Given the description of an element on the screen output the (x, y) to click on. 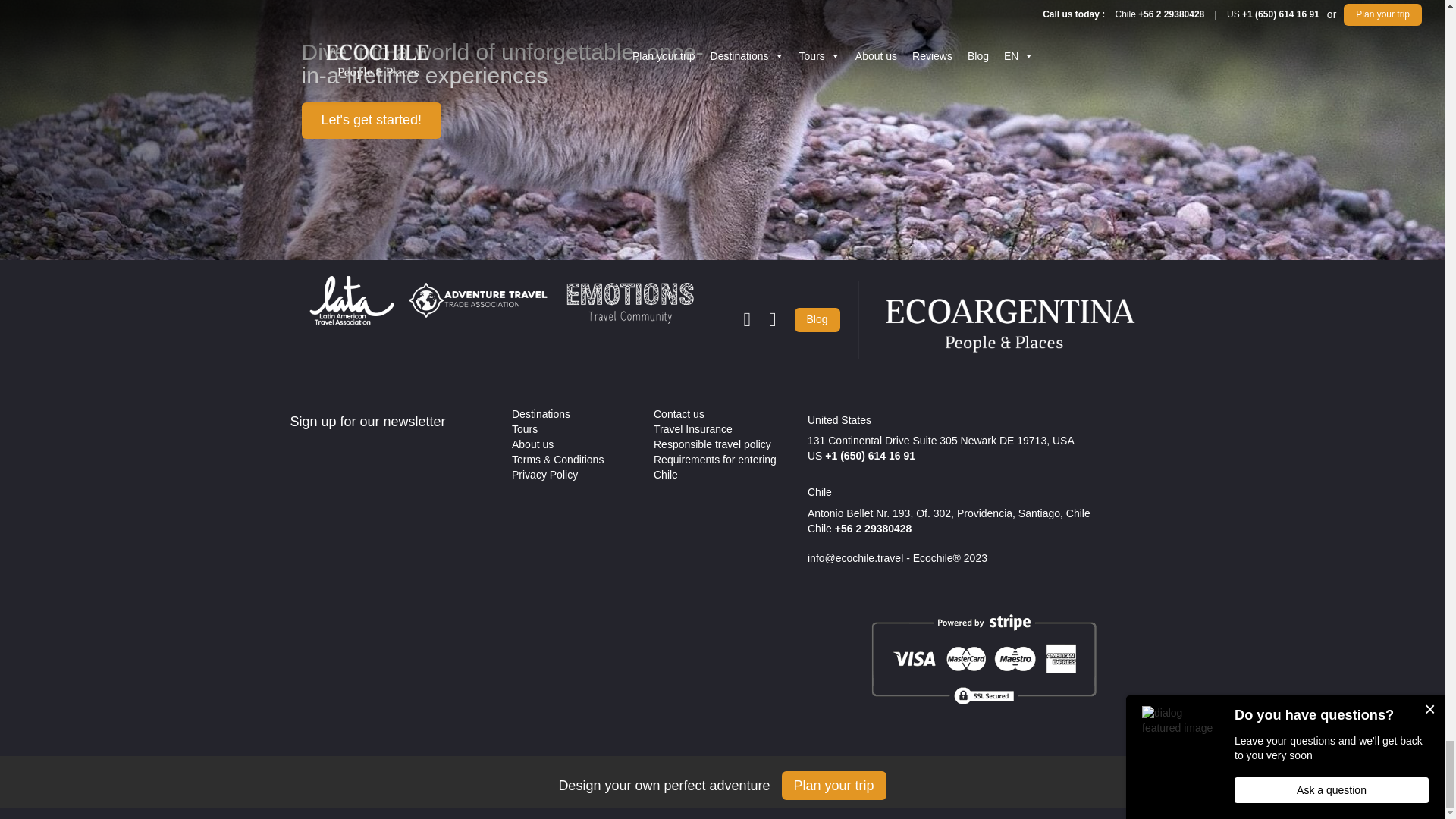
Blog (817, 319)
Destinations (541, 413)
Tours (524, 428)
Form 0 (389, 557)
Let's get started! (371, 120)
